Given the description of an element on the screen output the (x, y) to click on. 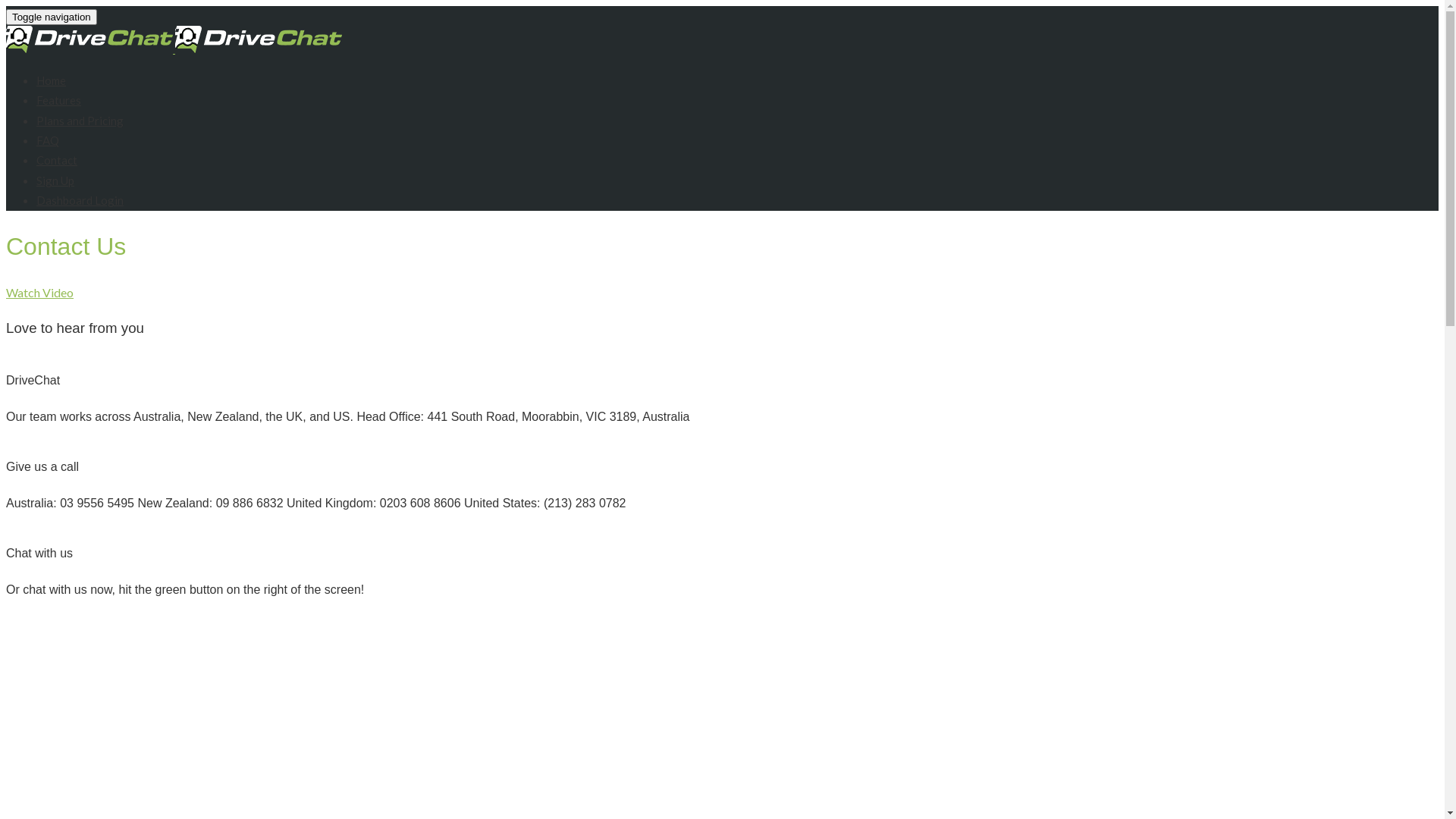
Contact Element type: text (56, 159)
Sign Up Element type: text (55, 180)
FAQ Element type: text (47, 140)
Toggle navigation Element type: text (51, 17)
Home Element type: text (50, 80)
Dashboard Login Element type: text (79, 200)
Features Element type: text (58, 99)
Plans and Pricing Element type: text (79, 120)
Watch Video Element type: text (39, 292)
